Given the description of an element on the screen output the (x, y) to click on. 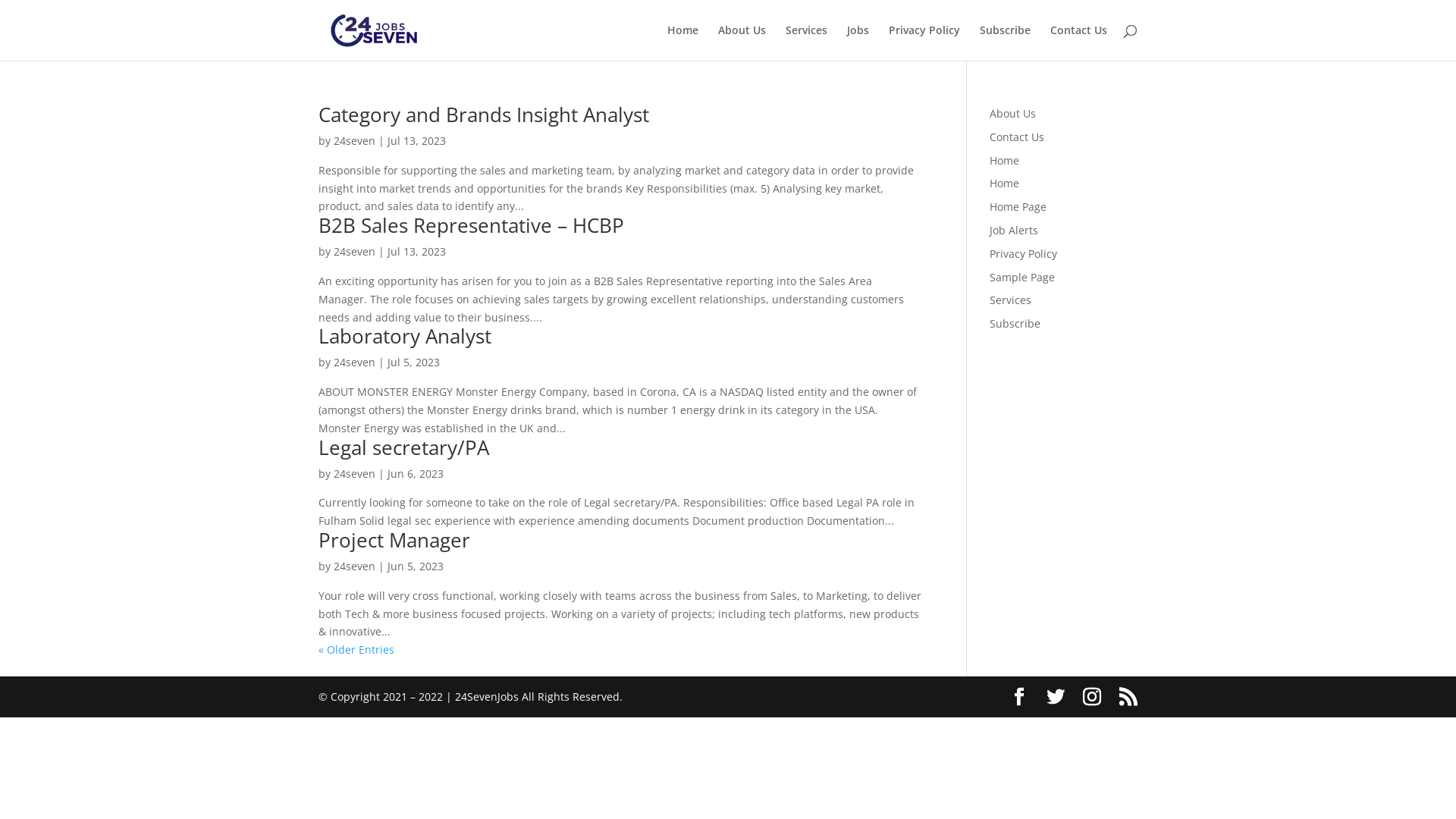
Services Element type: text (1010, 299)
24seven Element type: text (354, 473)
About Us Element type: text (1012, 113)
Services Element type: text (806, 42)
Contact Us Element type: text (1016, 136)
Home Element type: text (1004, 182)
24seven Element type: text (354, 140)
Contact Us Element type: text (1078, 42)
24seven Element type: text (354, 361)
24seven Element type: text (354, 565)
Subscribe Element type: text (1014, 323)
Legal secretary/PA Element type: text (403, 447)
Home Page Element type: text (1017, 206)
Project Manager Element type: text (394, 539)
Home Element type: text (682, 42)
Jobs Element type: text (858, 42)
Privacy Policy Element type: text (924, 42)
24seven Element type: text (354, 251)
Job Alerts Element type: text (1013, 229)
Subscribe Element type: text (1004, 42)
Category and Brands Insight Analyst Element type: text (483, 114)
Home Element type: text (1004, 160)
Sample Page Element type: text (1021, 276)
About Us Element type: text (741, 42)
Privacy Policy Element type: text (1023, 253)
Laboratory Analyst Element type: text (404, 335)
